Given the description of an element on the screen output the (x, y) to click on. 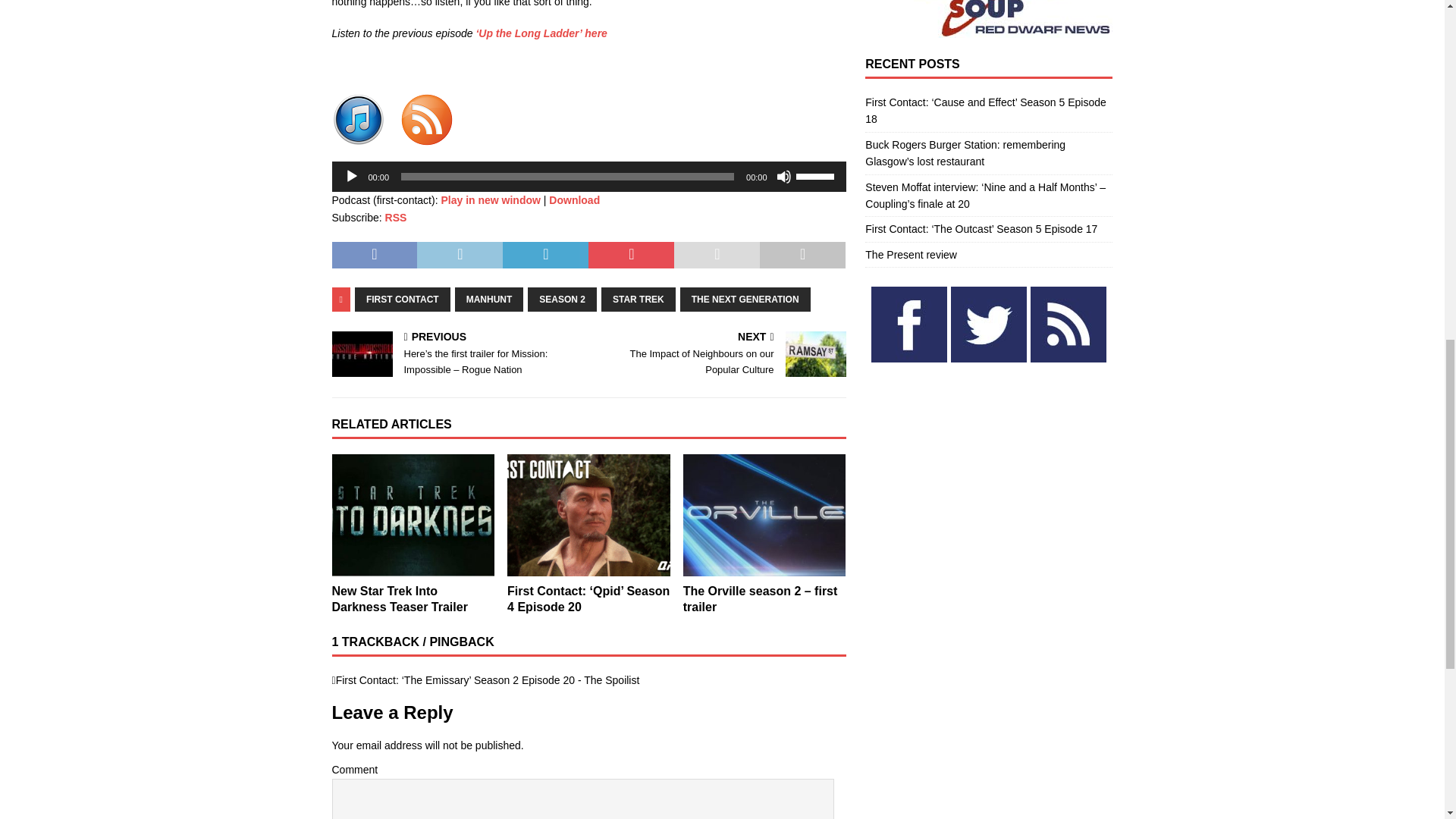
Play (351, 176)
Subscribe via RSS (396, 217)
Up the Long Ladder (541, 33)
Mute (784, 176)
Download (573, 200)
Play in new window (490, 200)
